Given the description of an element on the screen output the (x, y) to click on. 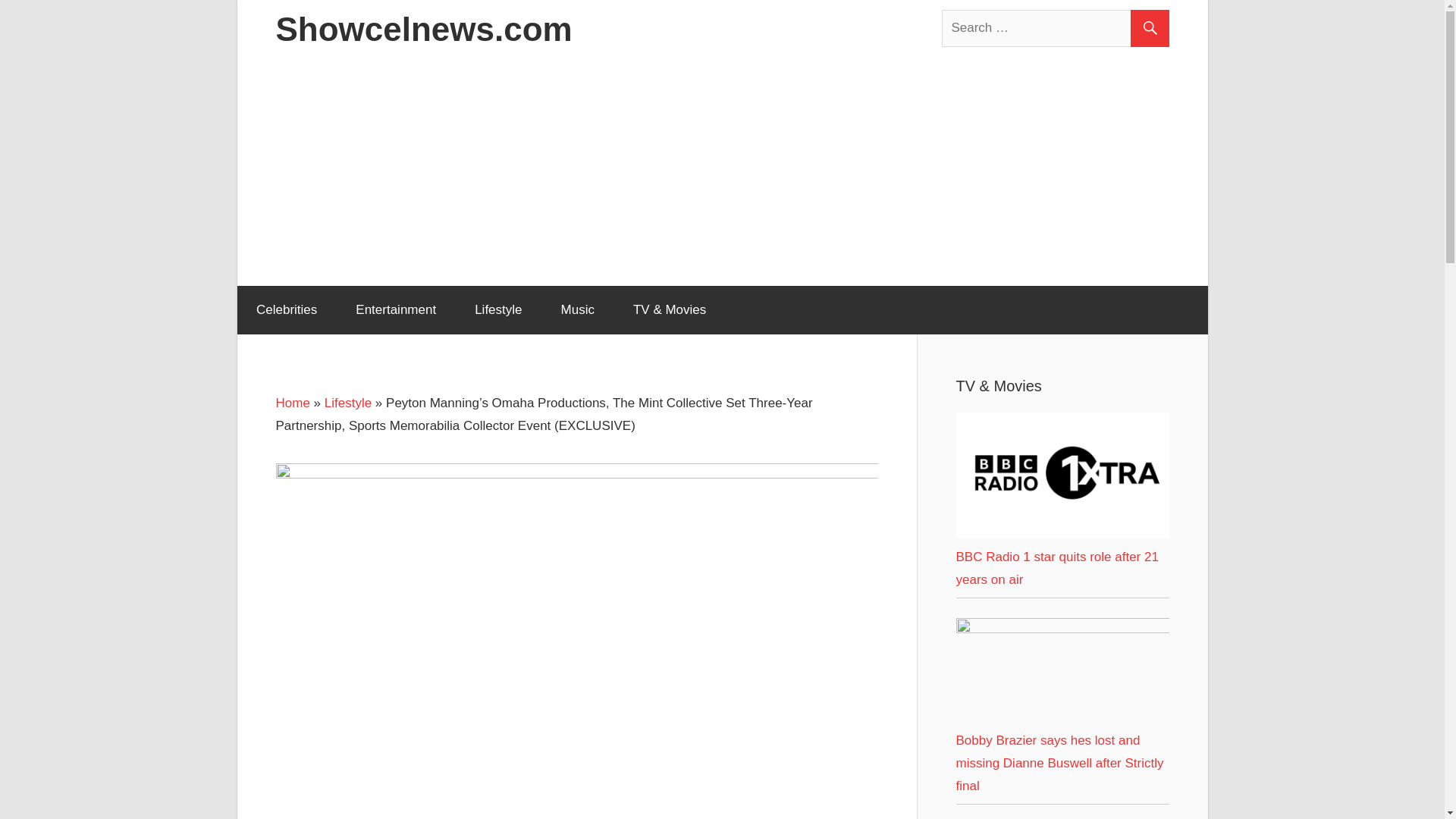
Entertainment (395, 309)
Home (293, 402)
BBC Radio 1 star quits role after 21 years on air (1062, 475)
BBC Radio 1 star quits role after 21 years on air (1062, 534)
Showcelnews.com (424, 28)
BBC Radio 1 star quits role after 21 years on air (1056, 568)
Music (576, 309)
Lifestyle (347, 402)
Search for: (1055, 27)
Celebrities (285, 309)
Lifestyle (498, 309)
